Given the description of an element on the screen output the (x, y) to click on. 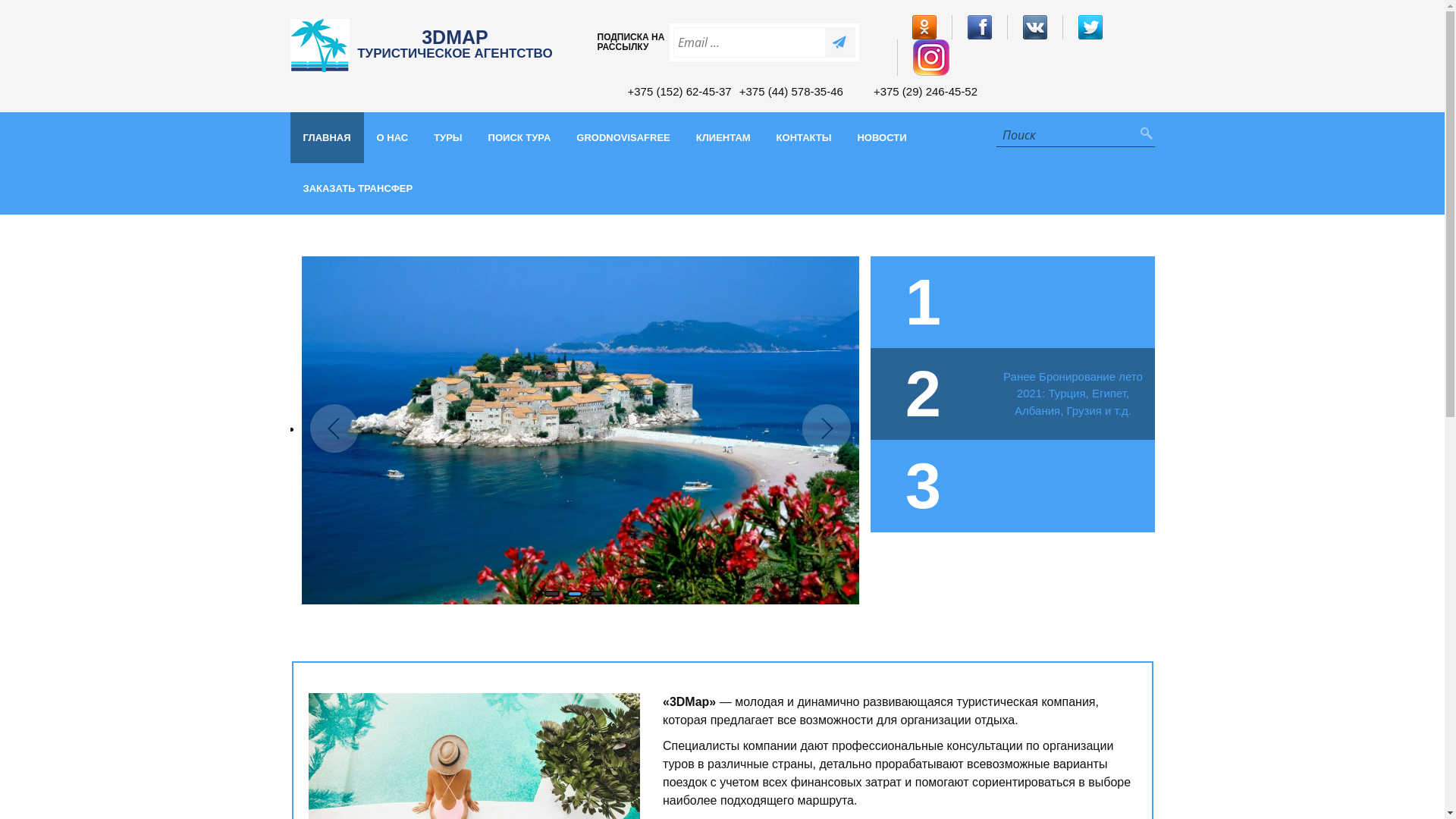
GRODNOVISAFREE Element type: text (623, 137)
3 Element type: text (983, 485)
1 Element type: text (983, 301)
2 Element type: text (983, 393)
